Given the description of an element on the screen output the (x, y) to click on. 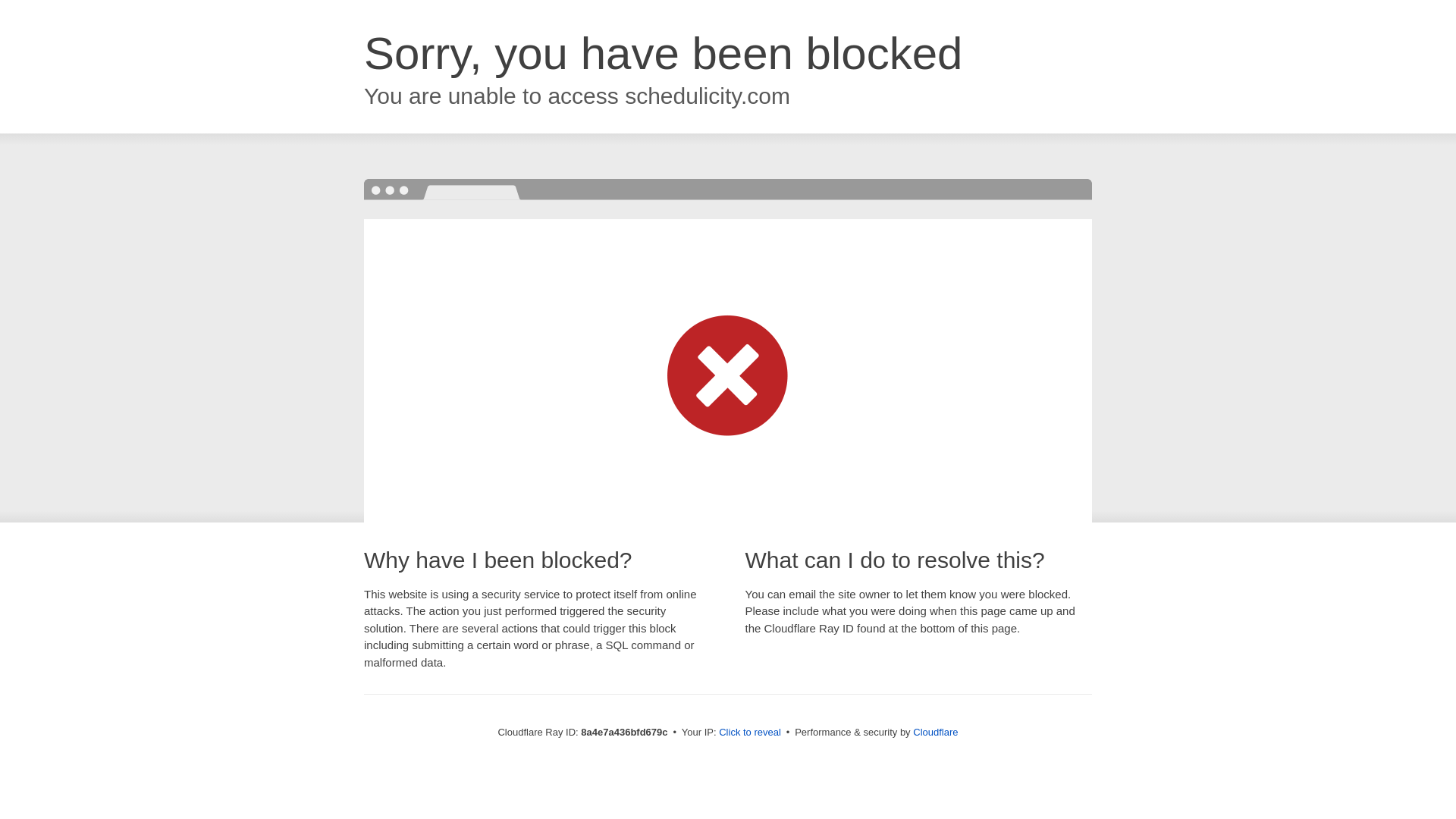
Click to reveal (749, 732)
Cloudflare (935, 731)
